Given the description of an element on the screen output the (x, y) to click on. 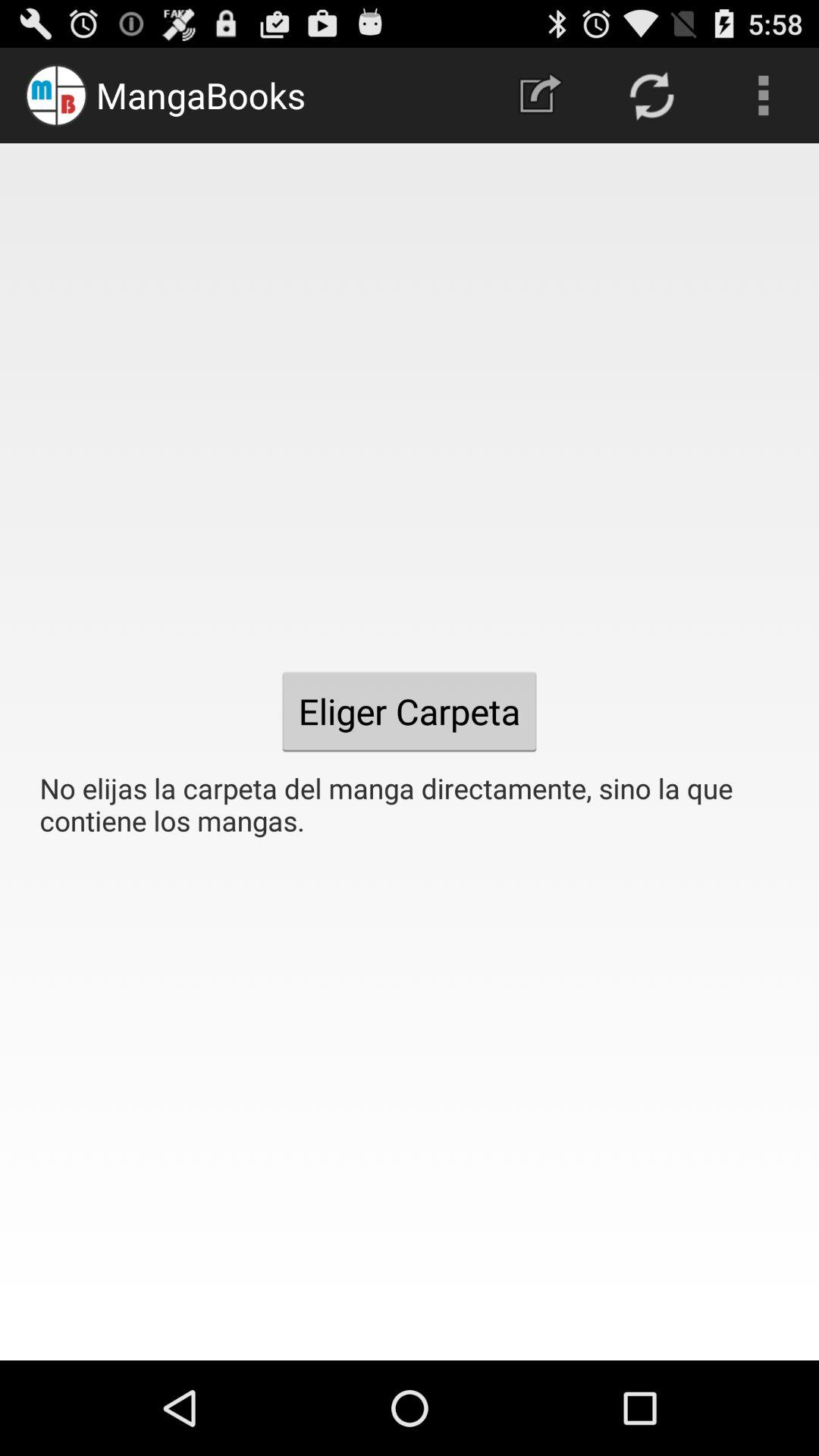
turn on the item to the right of the mangabooks item (540, 95)
